Given the description of an element on the screen output the (x, y) to click on. 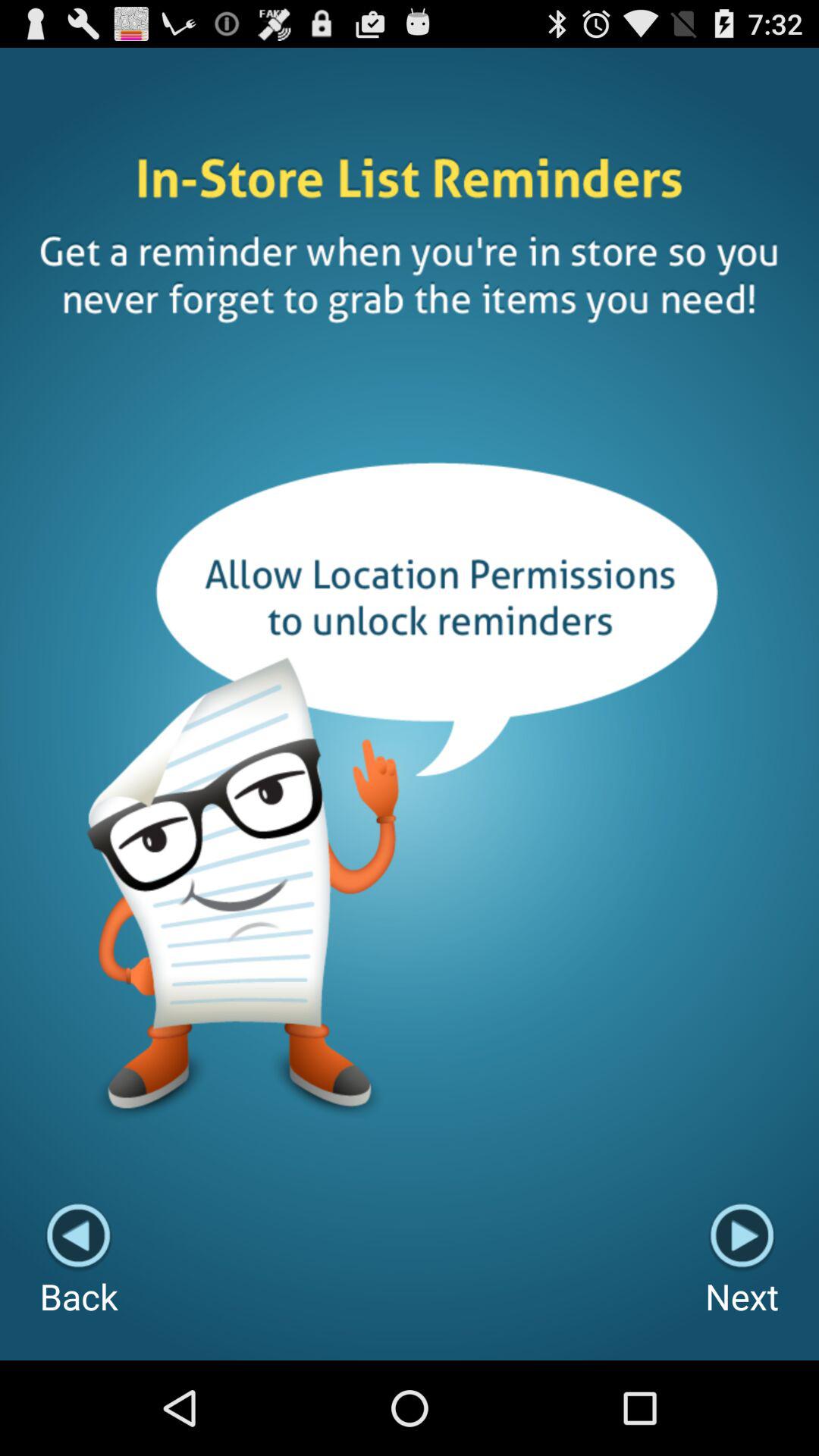
choose item to the left of next button (79, 1260)
